Given the description of an element on the screen output the (x, y) to click on. 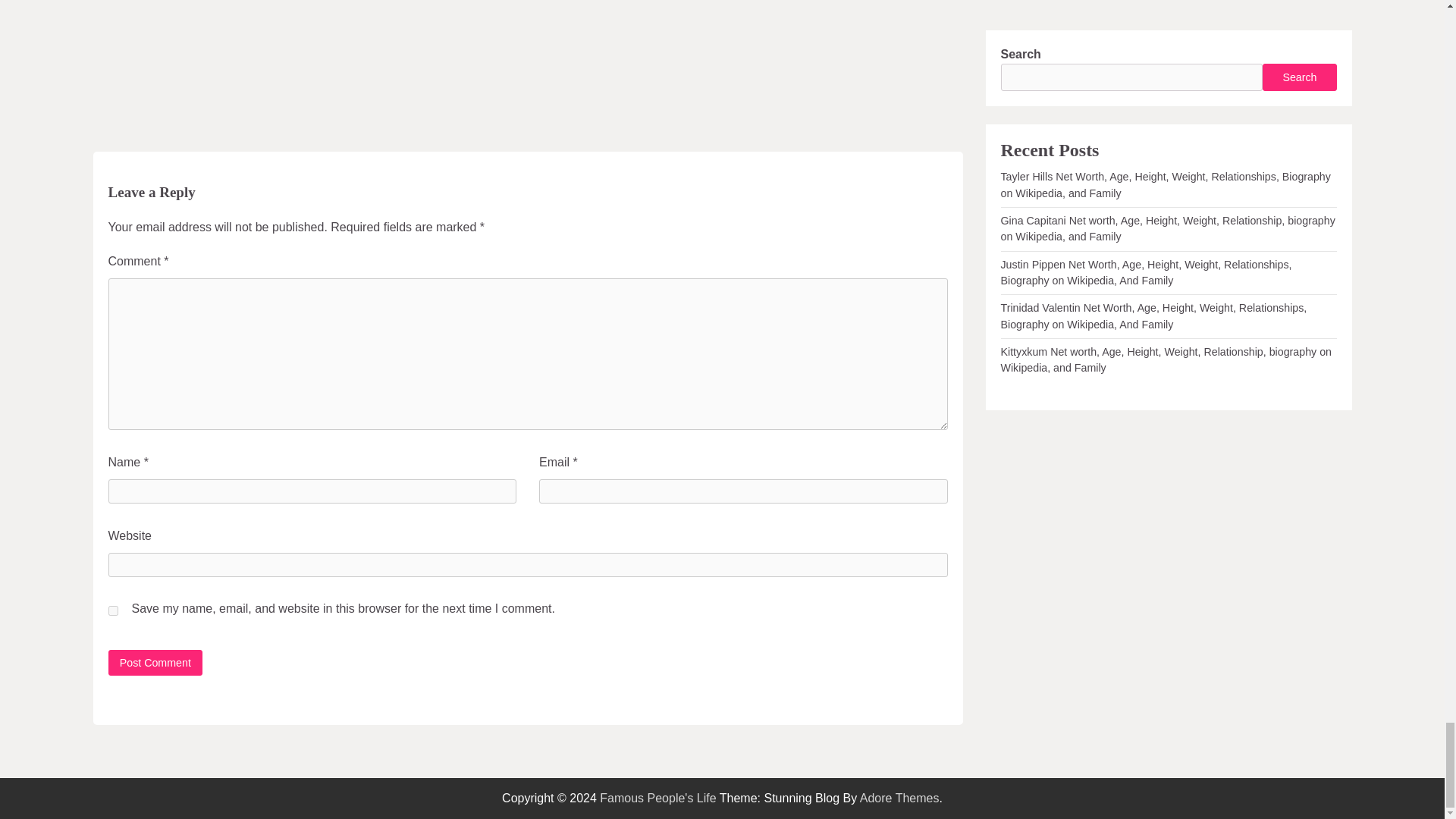
yes (112, 610)
Post Comment (154, 662)
Post Comment (154, 662)
